Given the description of an element on the screen output the (x, y) to click on. 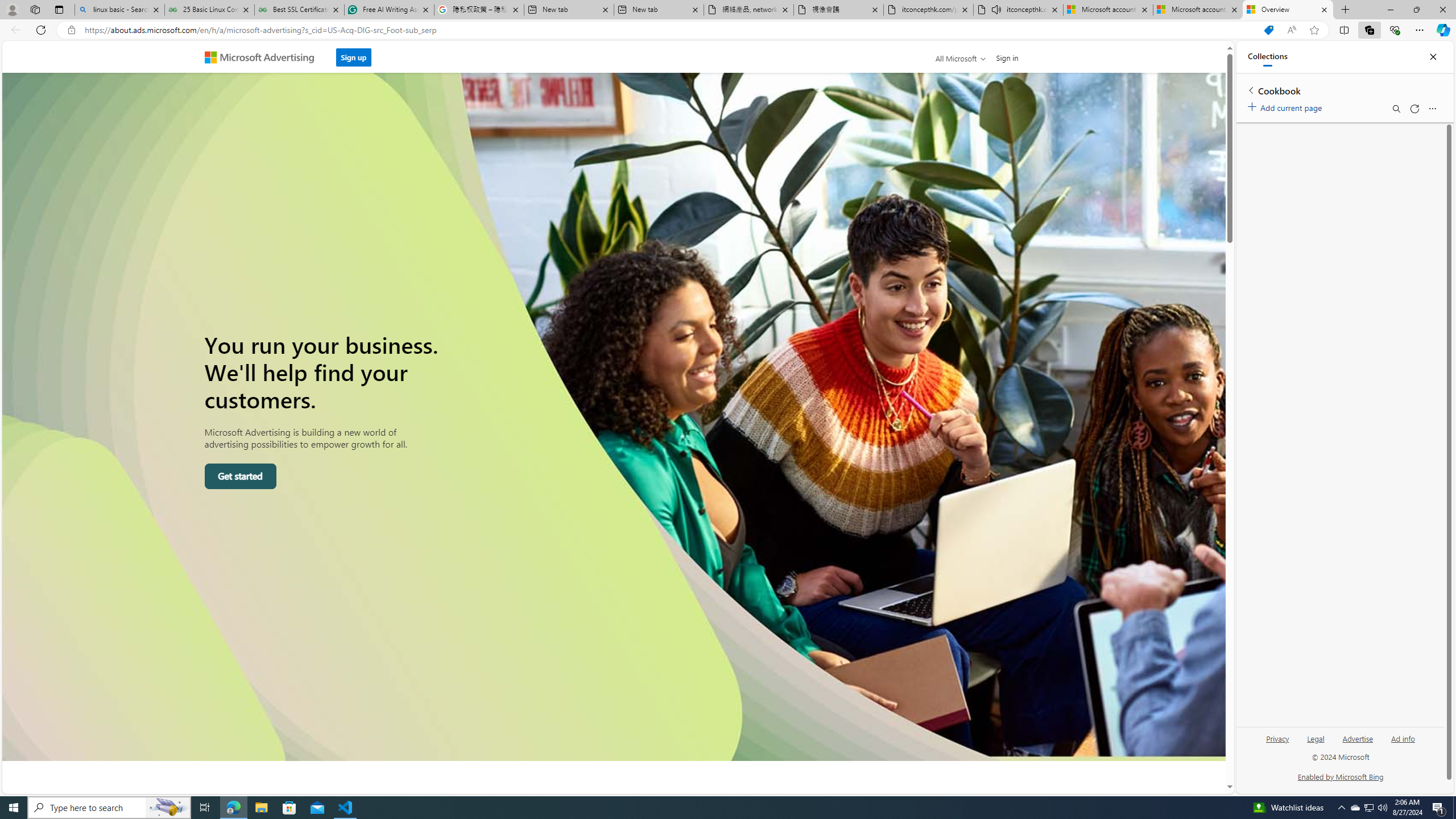
Microsoft Advertising (263, 56)
itconcepthk.com/projector_solutions.mp4 (928, 9)
